Given the description of an element on the screen output the (x, y) to click on. 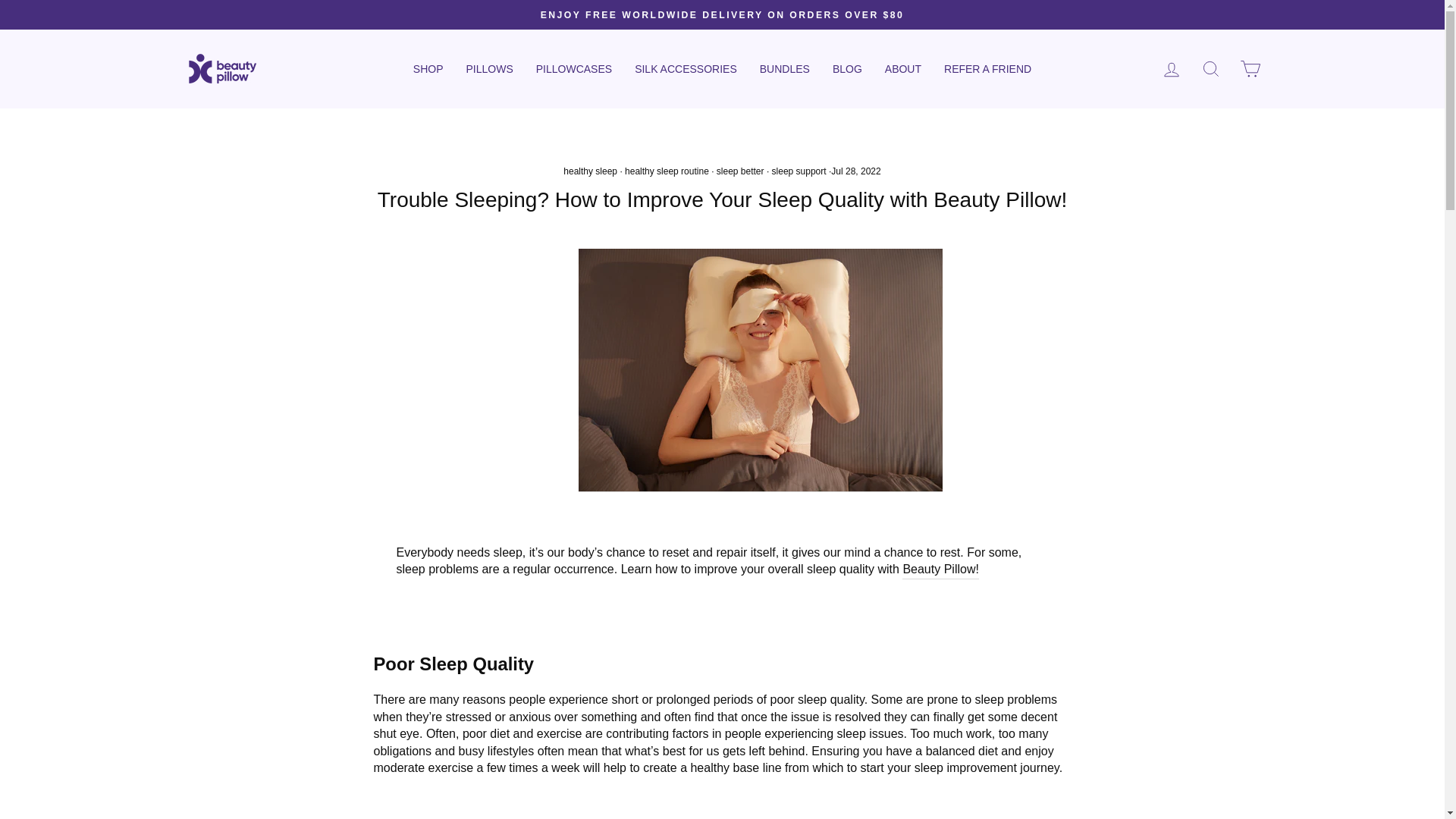
Beauty Pillow (760, 370)
Shop Beauty Pillow Collections (940, 569)
